Given the description of an element on the screen output the (x, y) to click on. 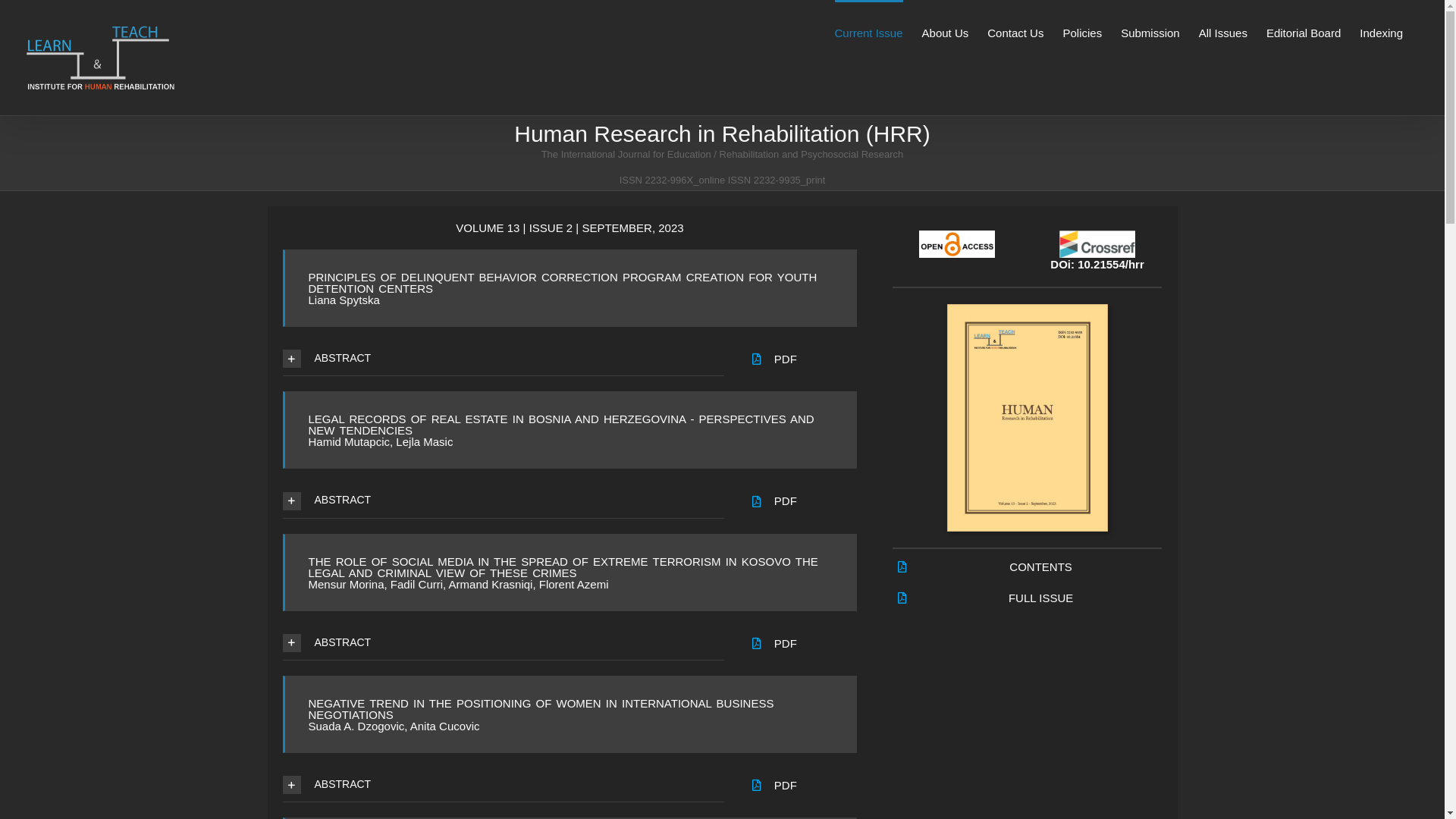
ABSTRACT Element type: text (502, 784)
PDF Element type: text (785, 358)
ABSTRACT Element type: text (502, 642)
All Issues Element type: text (1222, 31)
Contact Us Element type: text (1015, 31)
Editorial Board Element type: text (1303, 31)
PDF Element type: text (785, 500)
ABSTRACT Element type: text (502, 500)
Current Issue Element type: text (868, 31)
open_access_icon Element type: hover (956, 243)
CONTENTS Element type: text (1040, 566)
Policies Element type: text (1081, 31)
ABSTRACT Element type: text (502, 358)
Crossref Element type: hover (1097, 243)
FULL ISSUE Element type: text (1040, 597)
About Us Element type: text (945, 31)
Indexing Element type: text (1380, 31)
Submission Element type: text (1149, 31)
PDF Element type: text (785, 784)
PDF Element type: text (785, 643)
